Given the description of an element on the screen output the (x, y) to click on. 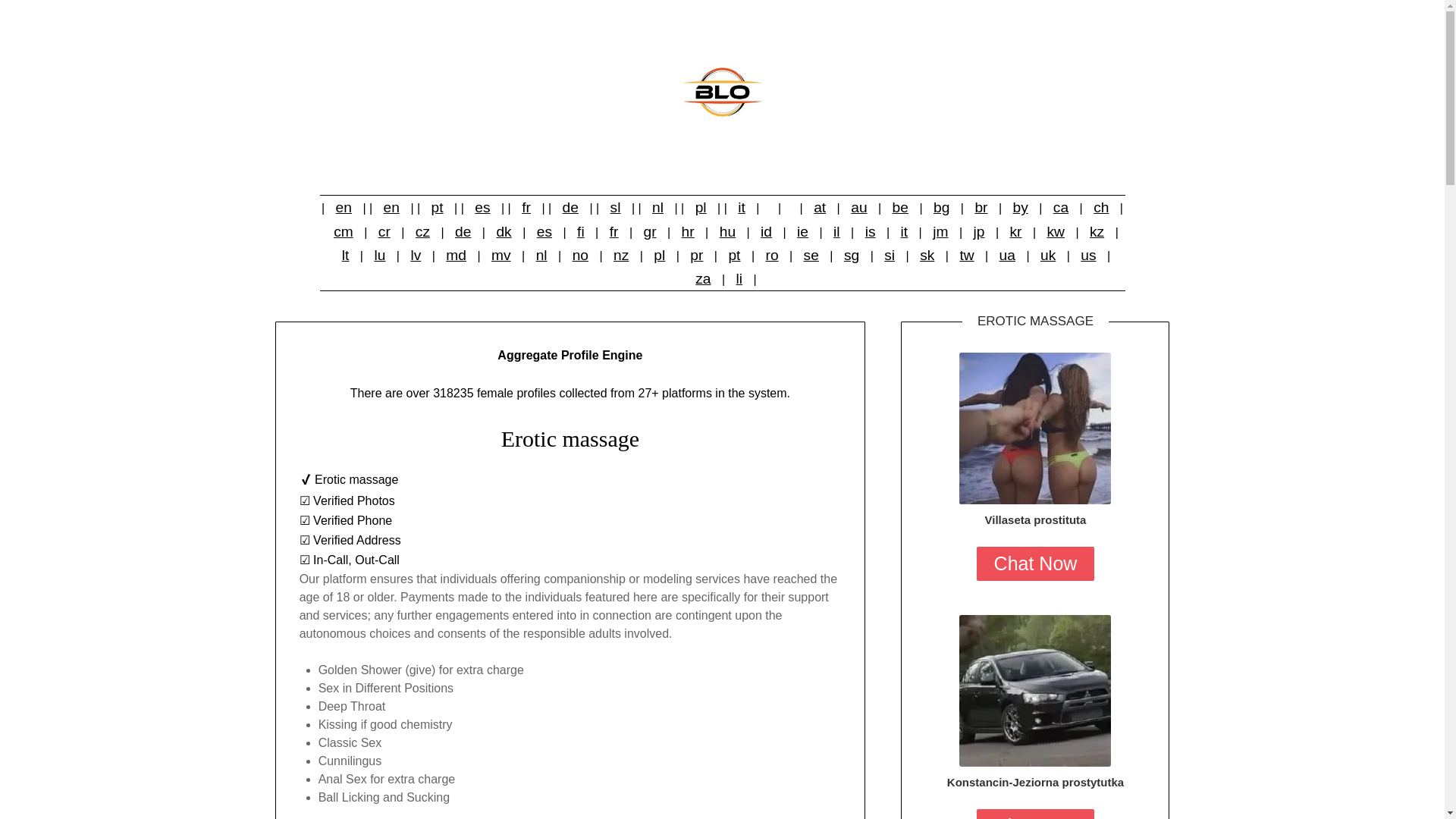
de (462, 231)
cz (422, 231)
br (980, 206)
Meet (1034, 690)
ca (1060, 206)
ch (1101, 206)
en (391, 206)
jm (939, 231)
Meet (1034, 428)
bg (941, 206)
